Given the description of an element on the screen output the (x, y) to click on. 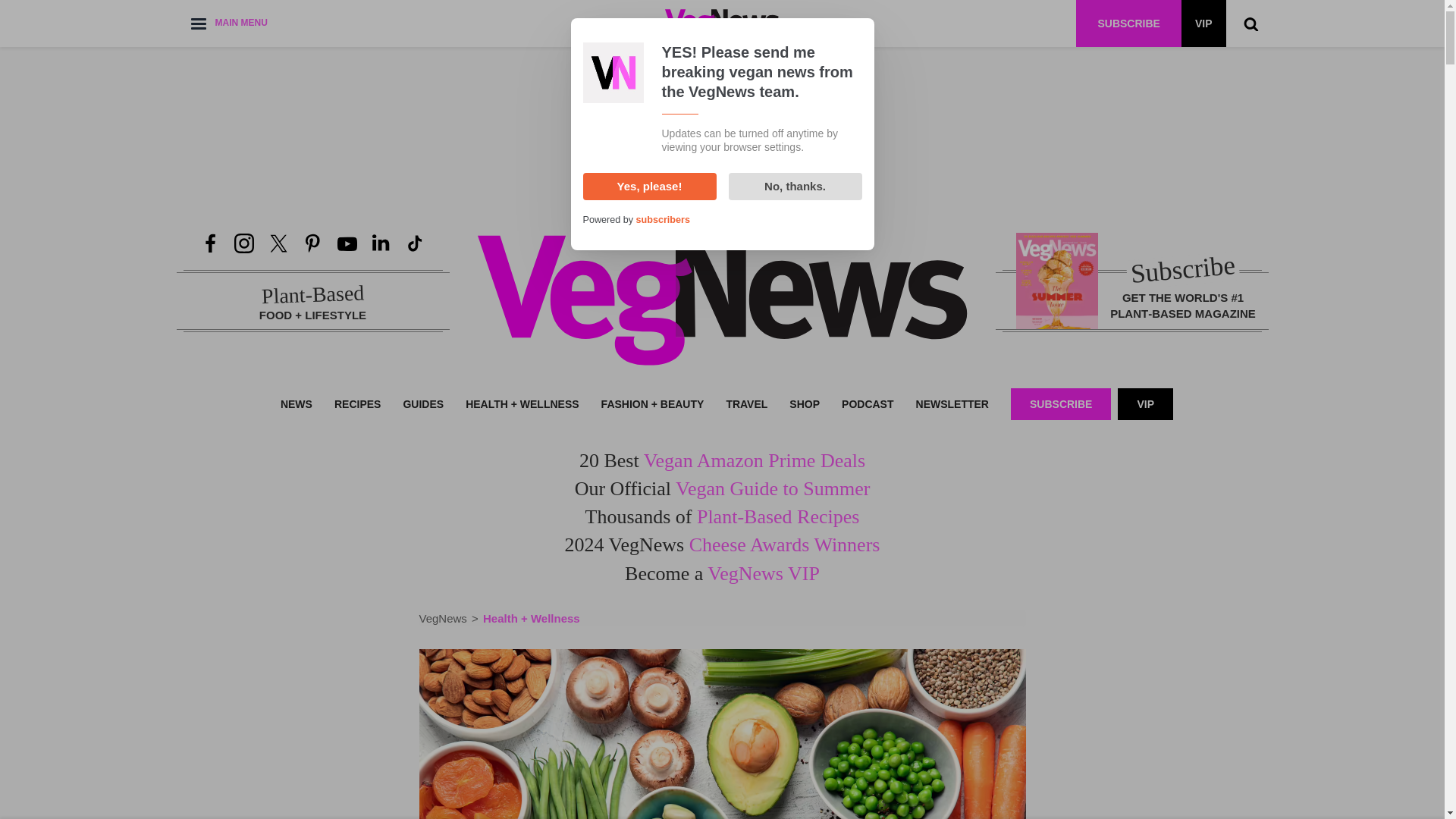
Become a VIP (1202, 23)
MAIN MENU (228, 23)
Show search (1250, 22)
